Given the description of an element on the screen output the (x, y) to click on. 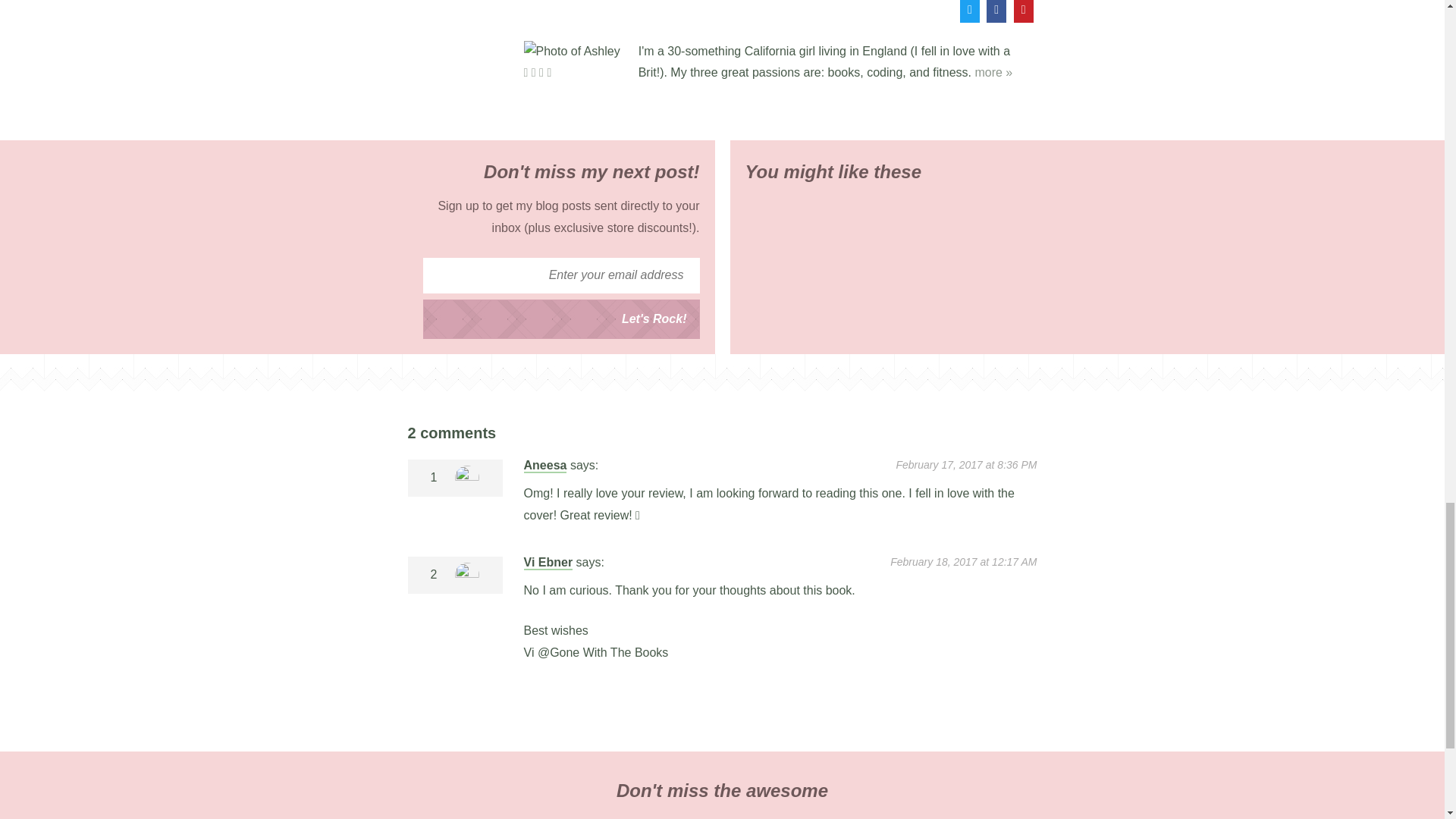
Twitter (524, 72)
Bloglovin' (540, 72)
RSS Feed (549, 72)
Goodreads (533, 72)
